Given the description of an element on the screen output the (x, y) to click on. 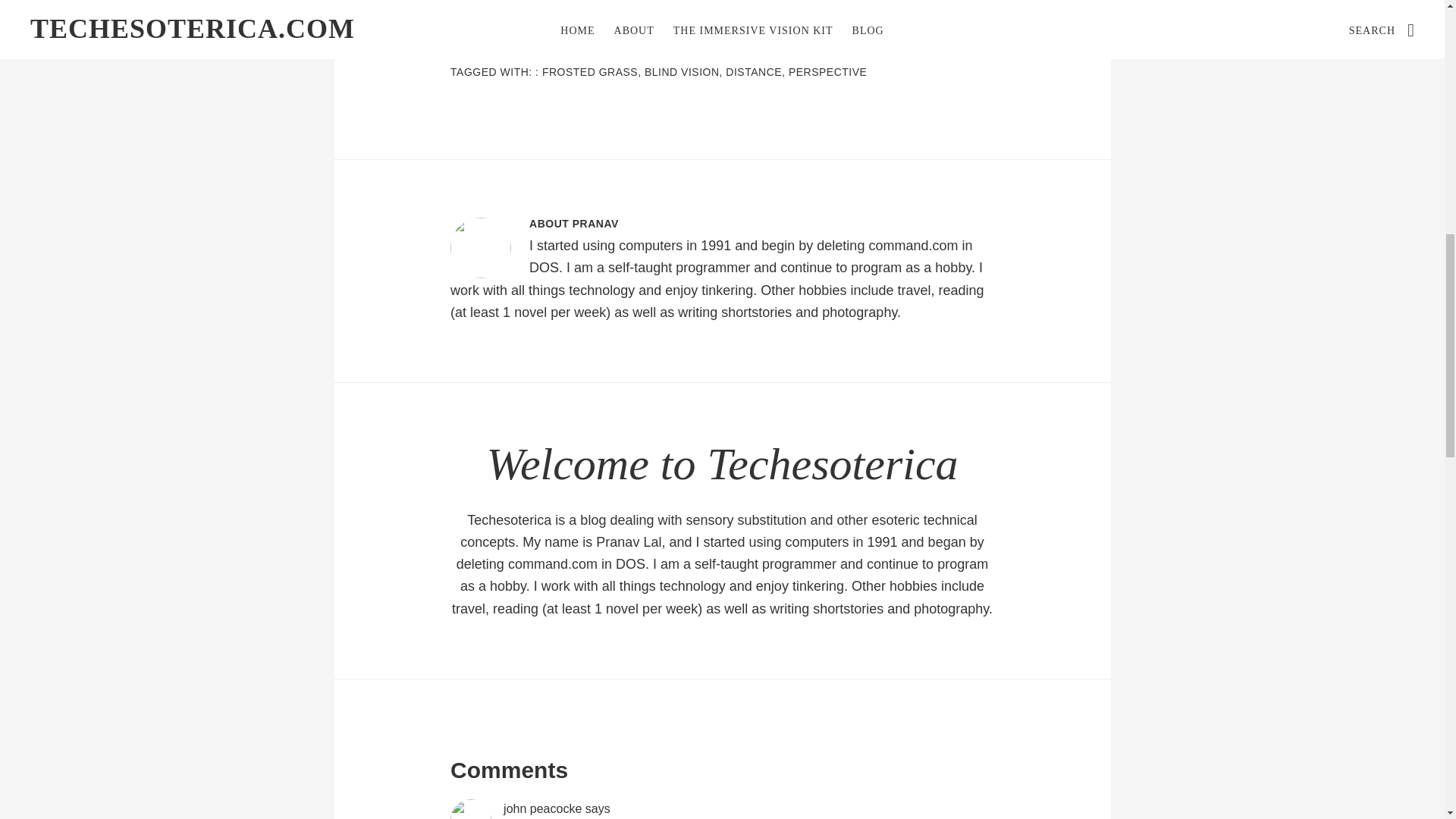
DISTANCE (753, 71)
PERSPECTIVE (828, 71)
: FROSTED GRASS (586, 71)
UNCATEGORIZED (580, 55)
BLIND VISION (682, 71)
